Given the description of an element on the screen output the (x, y) to click on. 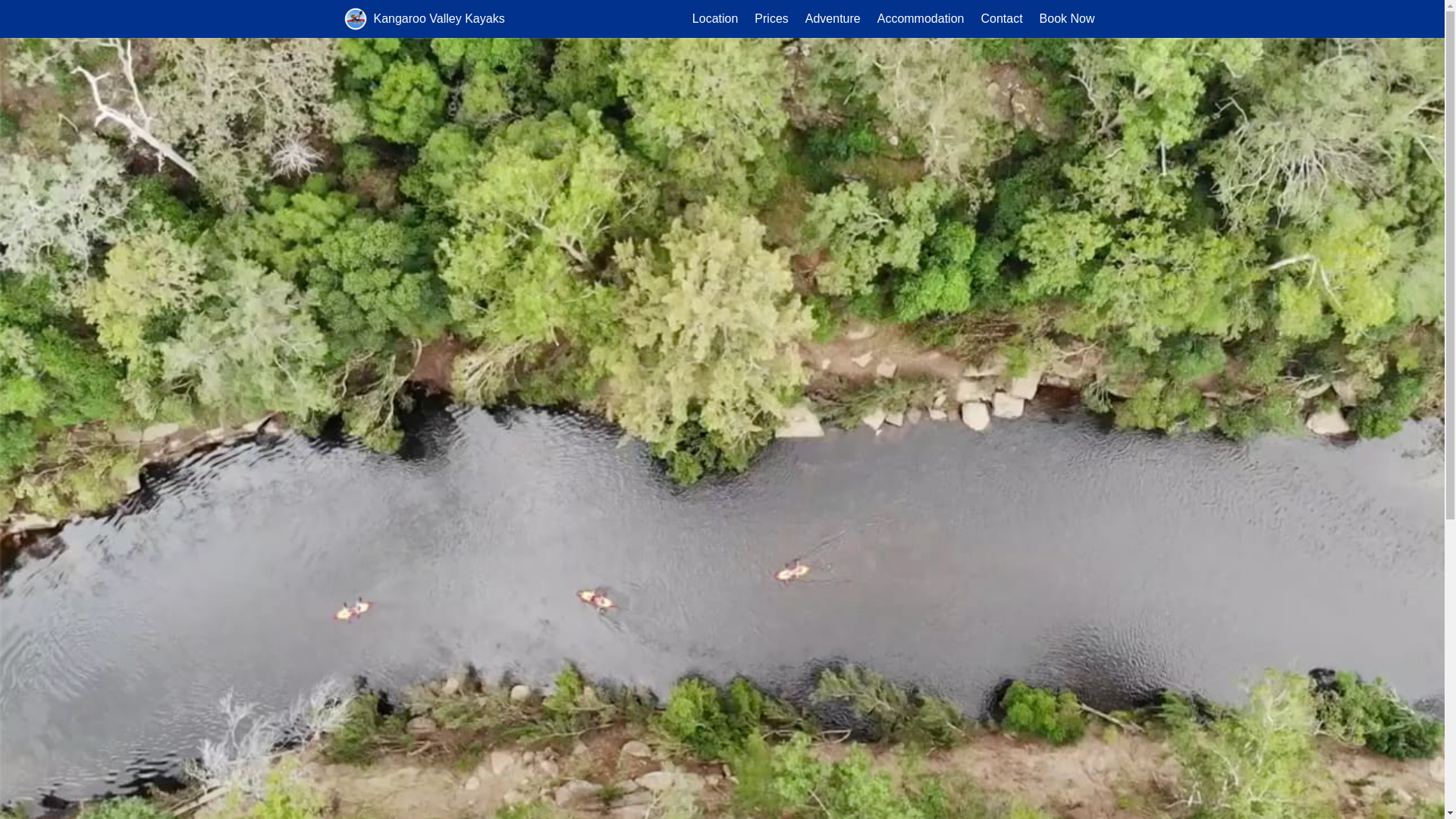
Adventure Element type: text (832, 18)
Book Now Element type: text (1066, 18)
Location Element type: text (715, 18)
Accommodation Element type: text (920, 18)
Contact Element type: text (1001, 18)
Kangaroo Valley Kayaks Element type: text (438, 18)
Prices Element type: text (770, 18)
